Given the description of an element on the screen output the (x, y) to click on. 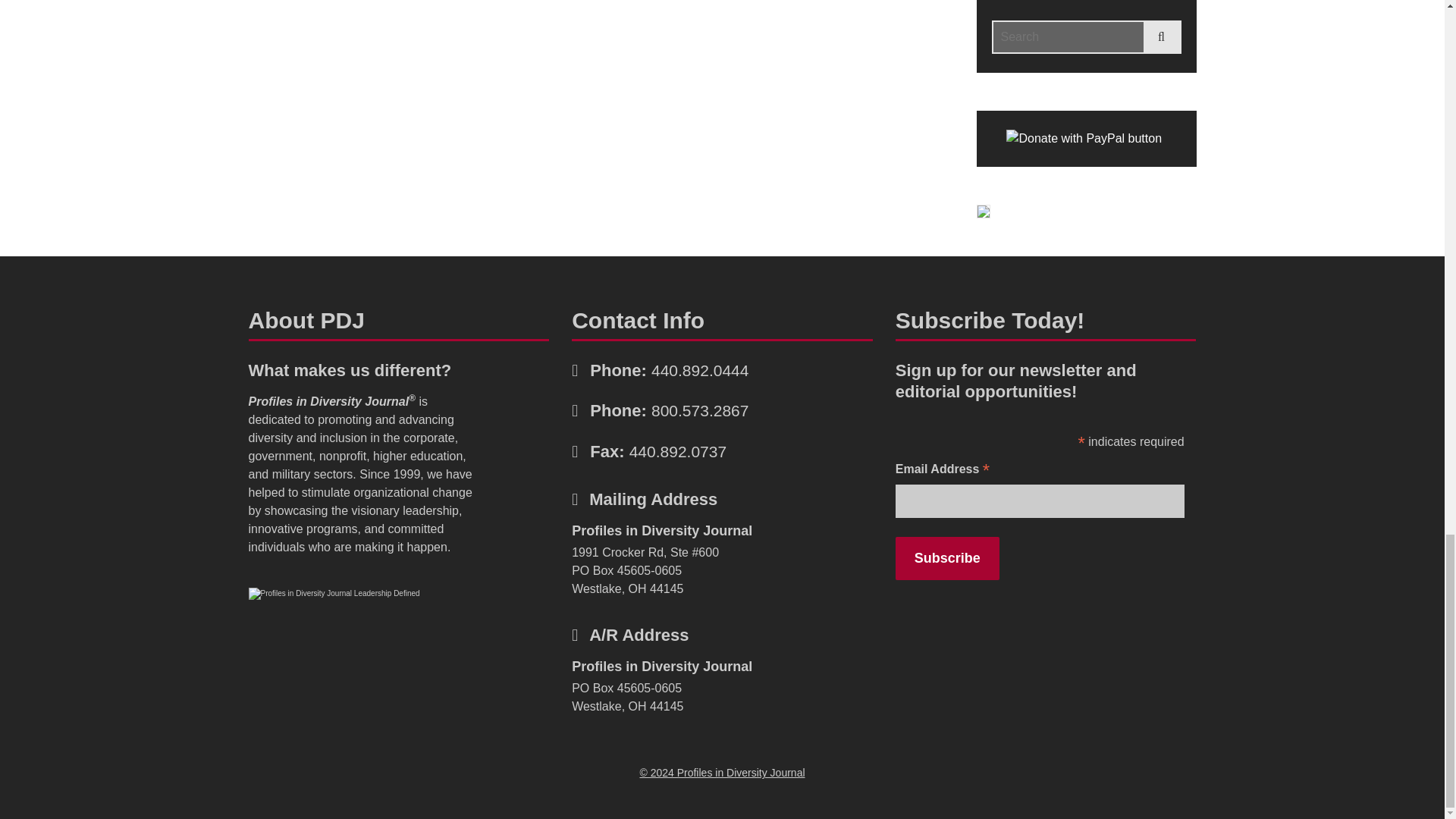
Subscribe (946, 558)
